Given the description of an element on the screen output the (x, y) to click on. 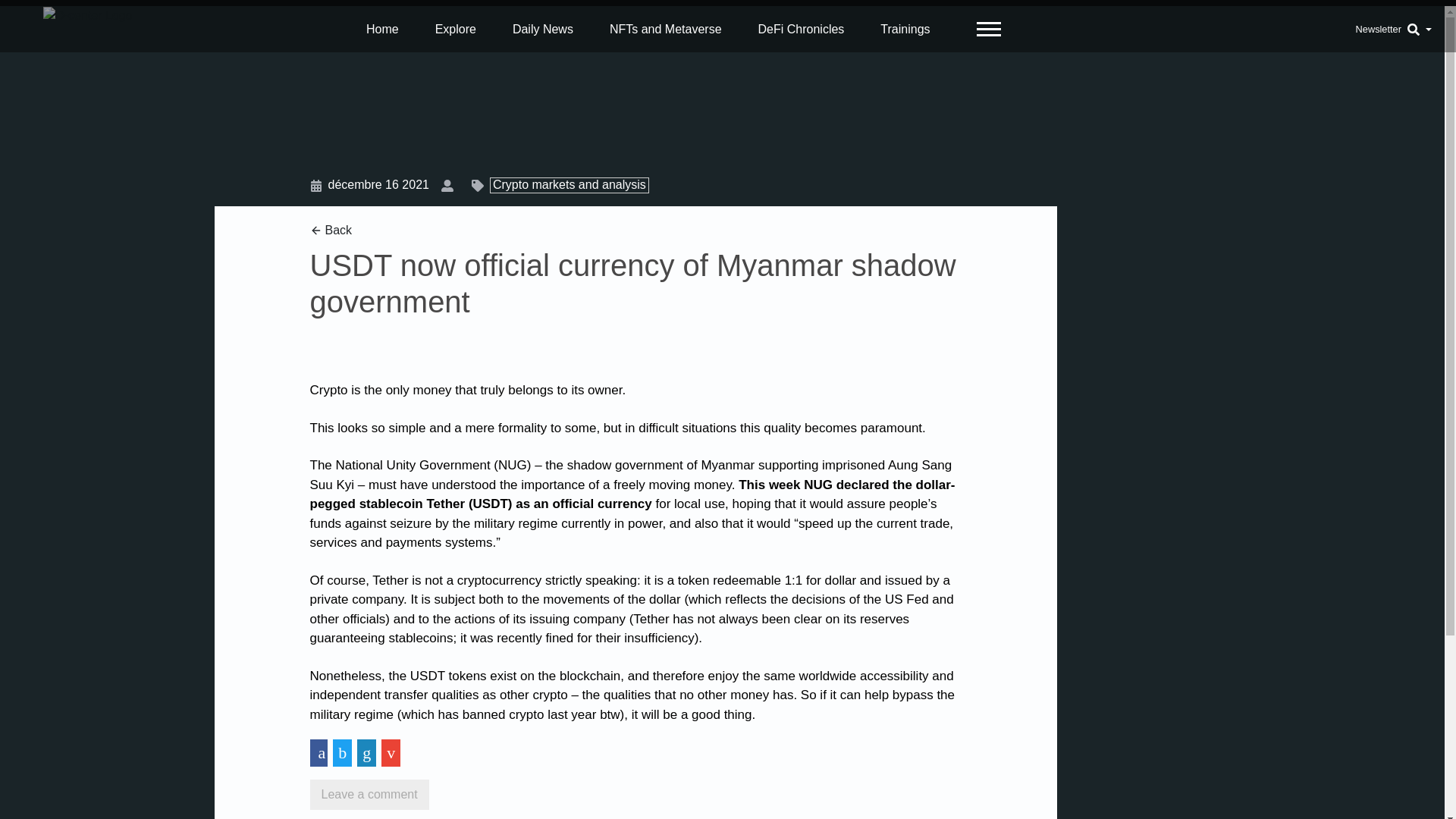
Home (382, 28)
Trainings (905, 28)
Crypto markets and analysis (566, 184)
Leave a comment (368, 794)
Newsletter (1377, 29)
Daily News (542, 28)
Explore (455, 28)
NFTs and Metaverse (666, 28)
DeFi Chronicles (801, 28)
